Given the description of an element on the screen output the (x, y) to click on. 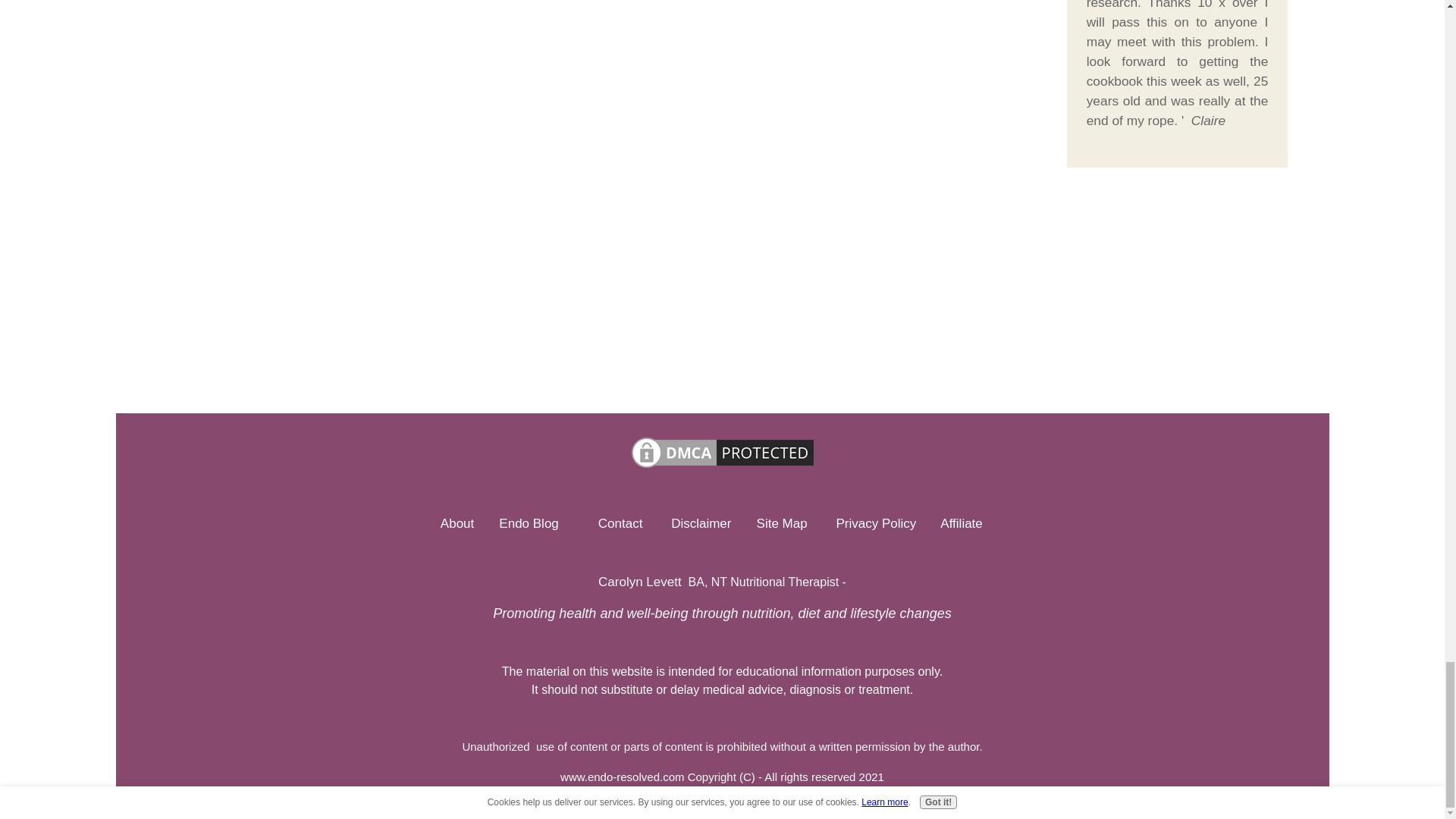
DMCA.com Protection Status (721, 467)
